Given the description of an element on the screen output the (x, y) to click on. 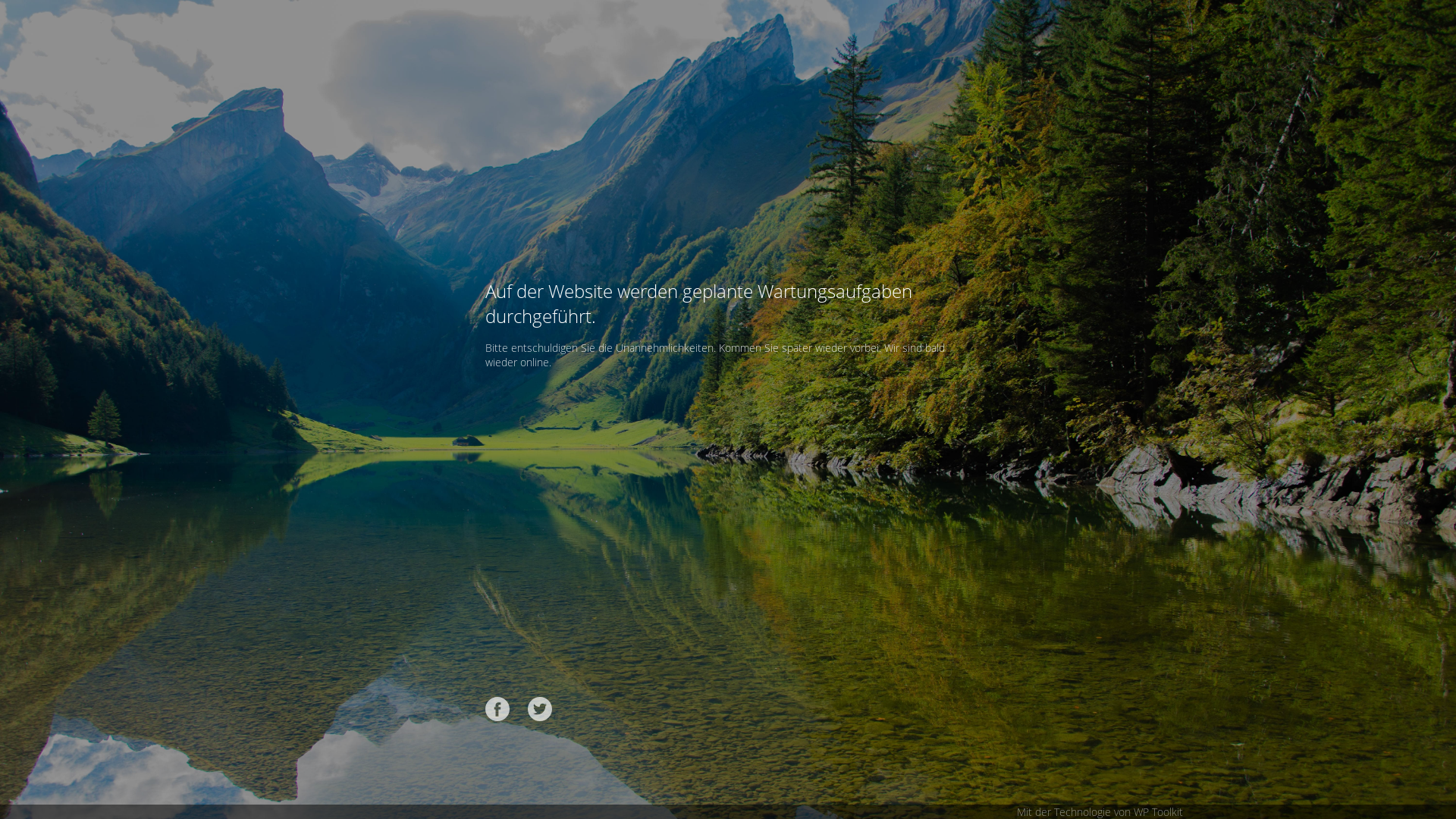
Twitter Element type: hover (539, 708)
Facebook Element type: hover (497, 708)
